Given the description of an element on the screen output the (x, y) to click on. 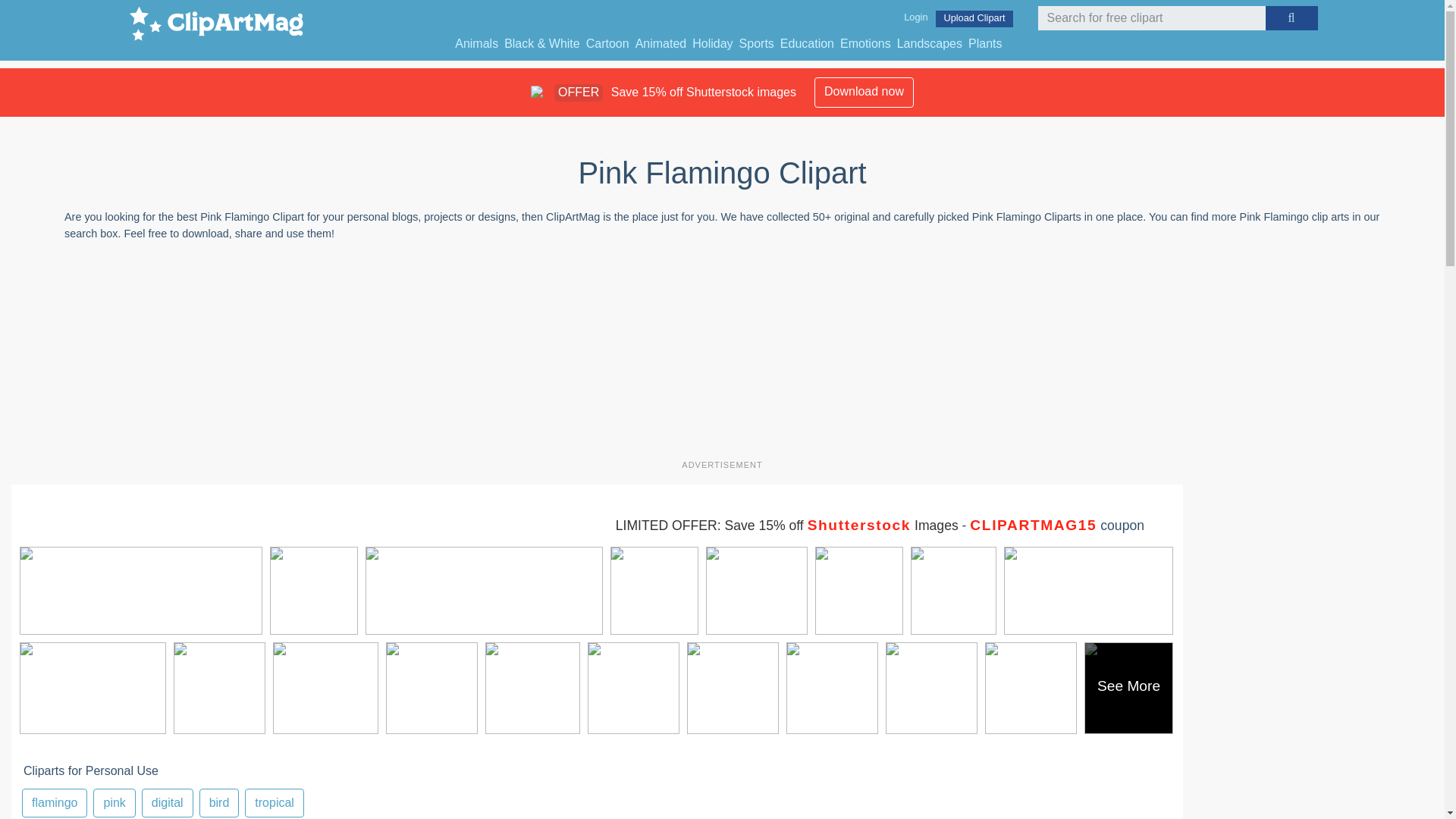
Education (596, 800)
Animals (807, 43)
pink flamingos in flat style on white background vector (475, 43)
Flamingo Summer Surfing on the Beach (484, 565)
Advertisement (832, 669)
Login (984, 43)
